Given the description of an element on the screen output the (x, y) to click on. 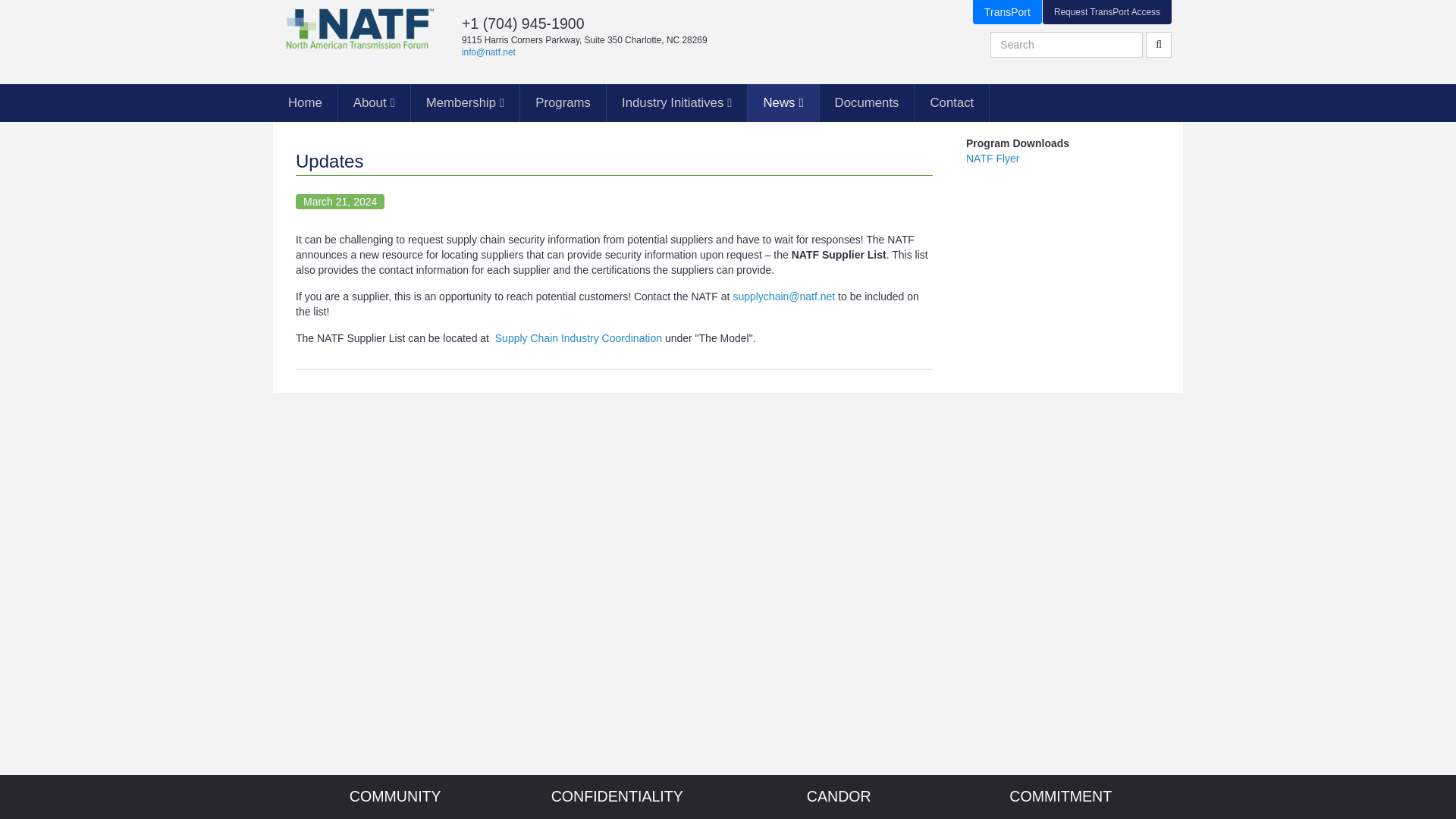
About (373, 103)
Home (305, 103)
Contact (951, 103)
TransPort (1007, 12)
News (783, 103)
Industry Initiatives (676, 103)
Programs (562, 103)
Documents (866, 103)
Membership (464, 103)
Search input (1066, 44)
Supply Chain Industry Coordination (578, 337)
NATF Flyer (993, 158)
Request TransPort Access (1107, 12)
